Given the description of an element on the screen output the (x, y) to click on. 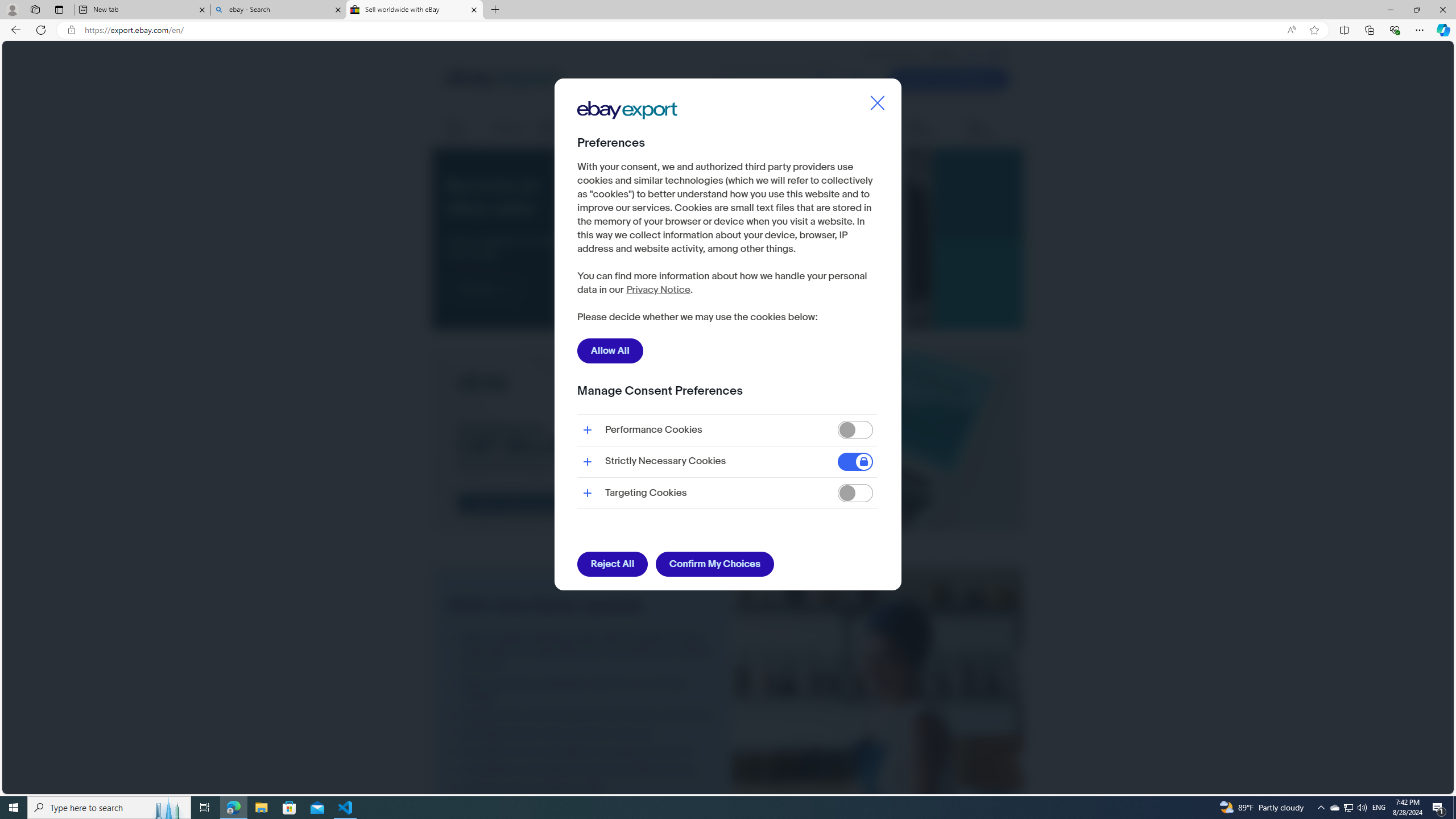
Class: header__toplink-icon (1005, 54)
Regulations & policies (807, 128)
Get eBay product sales research on the go (582, 733)
A simplified, consolidated view of your eBay earnings (582, 769)
Reject All (611, 564)
Ebay Export (630, 145)
eBay Partners (988, 128)
More marketing capabilities, right from your Active Listings (582, 690)
SEA (993, 53)
